Given the description of an element on the screen output the (x, y) to click on. 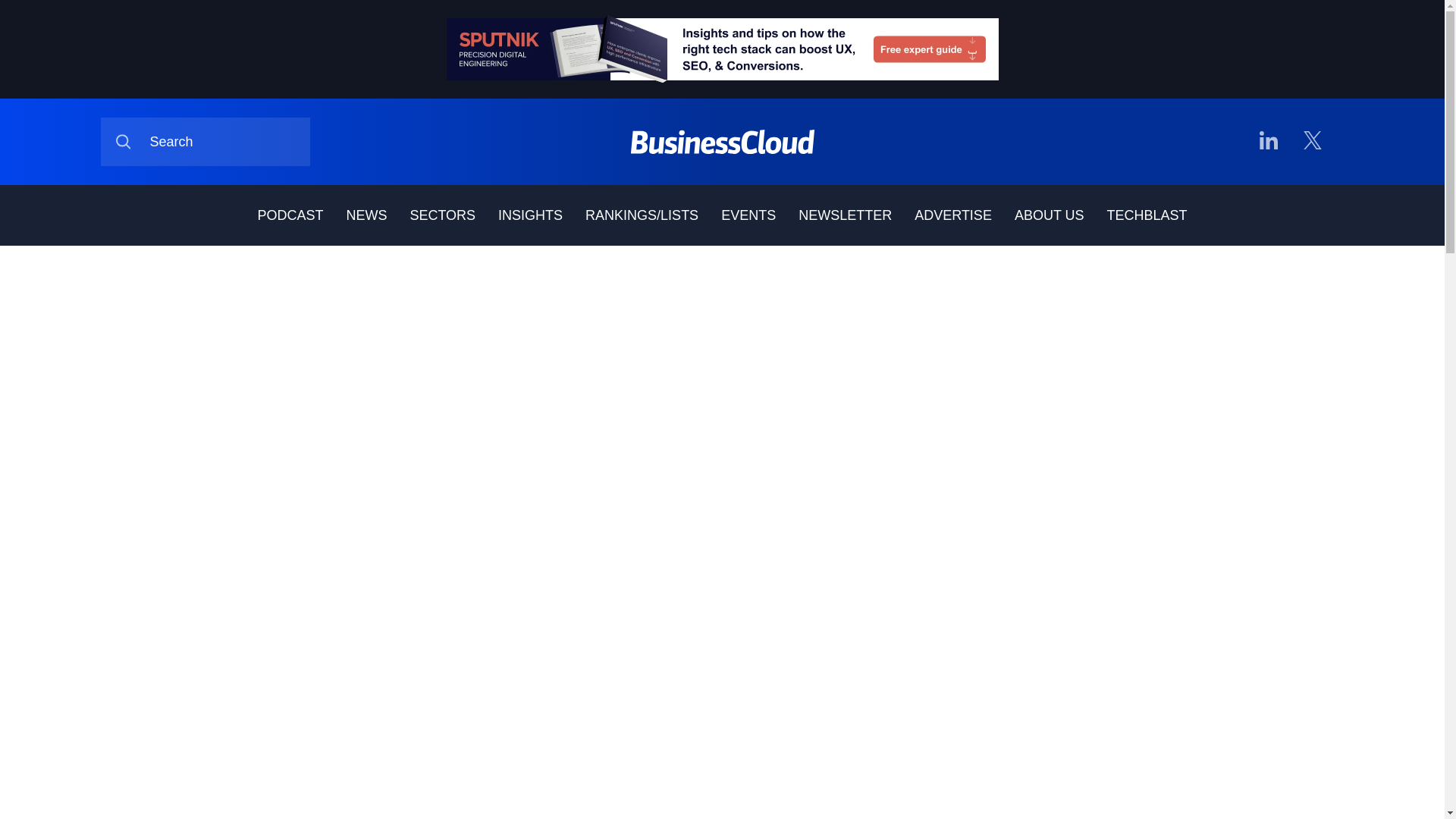
INSIGHTS (529, 215)
EVENTS (748, 215)
Search for: (204, 141)
PODCAST (290, 215)
ABOUT US (1049, 215)
ADVERTISE (952, 215)
NEWSLETTER (844, 215)
SECTORS (442, 215)
TECHBLAST (1147, 215)
NEWS (366, 215)
